Given the description of an element on the screen output the (x, y) to click on. 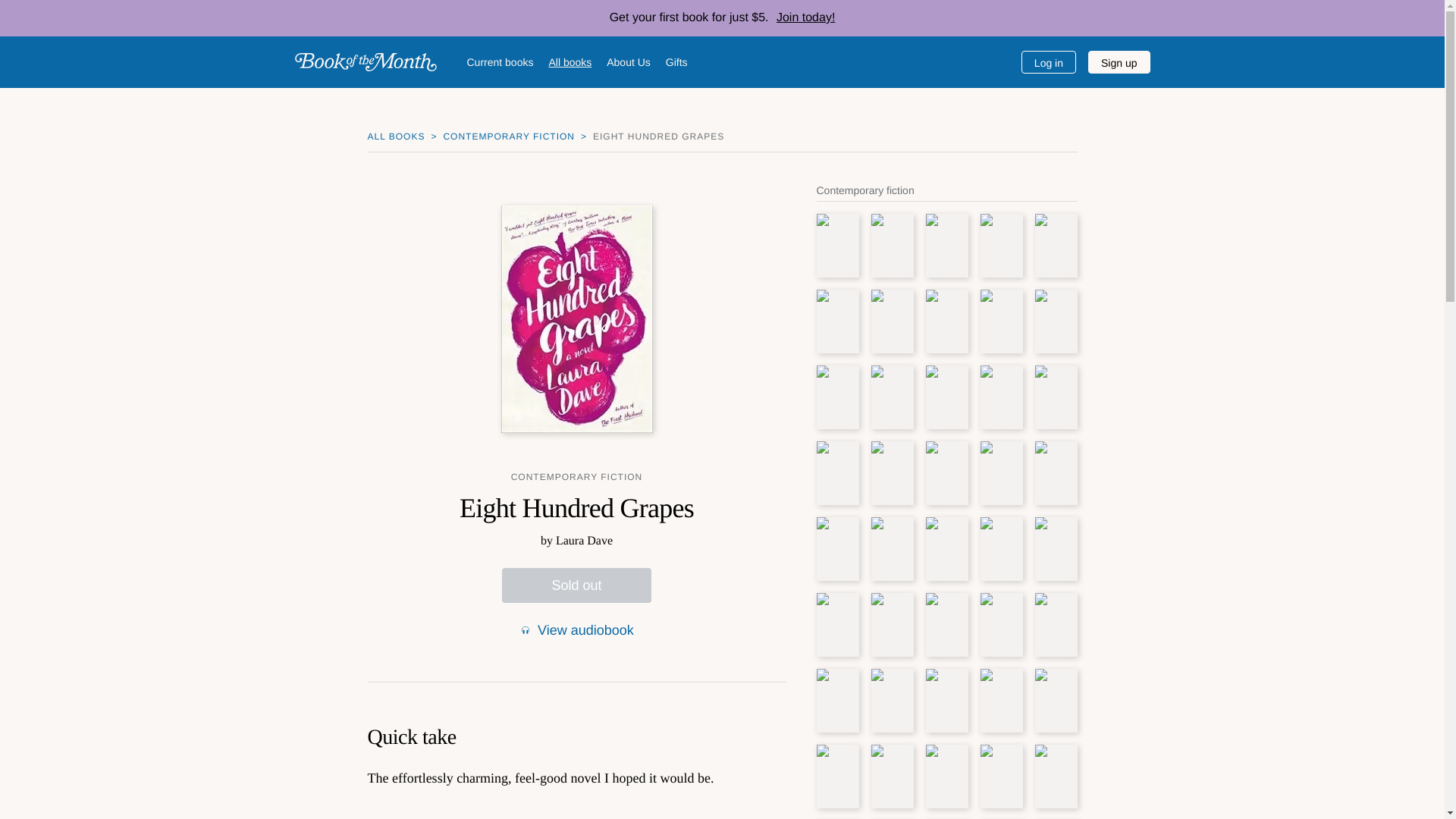
Current books (500, 61)
Log in (1048, 61)
Join today! (802, 17)
Sign up (1118, 61)
